Given the description of an element on the screen output the (x, y) to click on. 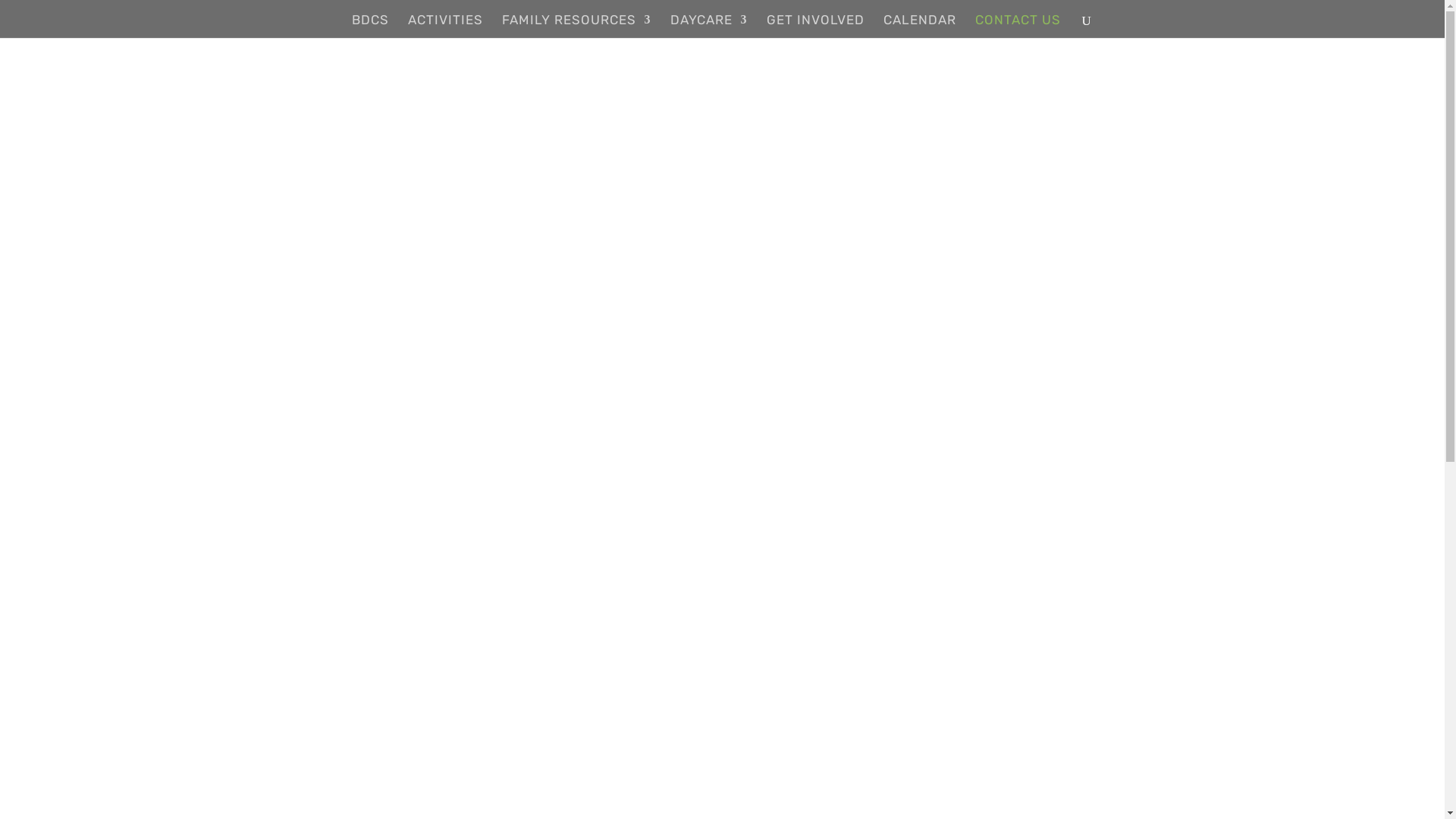
ACTIVITIES Element type: text (445, 25)
CONTACT US Element type: text (1017, 25)
FAMILY RESOURCES Element type: text (576, 25)
GET INVOLVED Element type: text (814, 25)
DAYCARE Element type: text (708, 25)
CALENDAR Element type: text (918, 25)
BDCS Element type: text (370, 25)
